Given the description of an element on the screen output the (x, y) to click on. 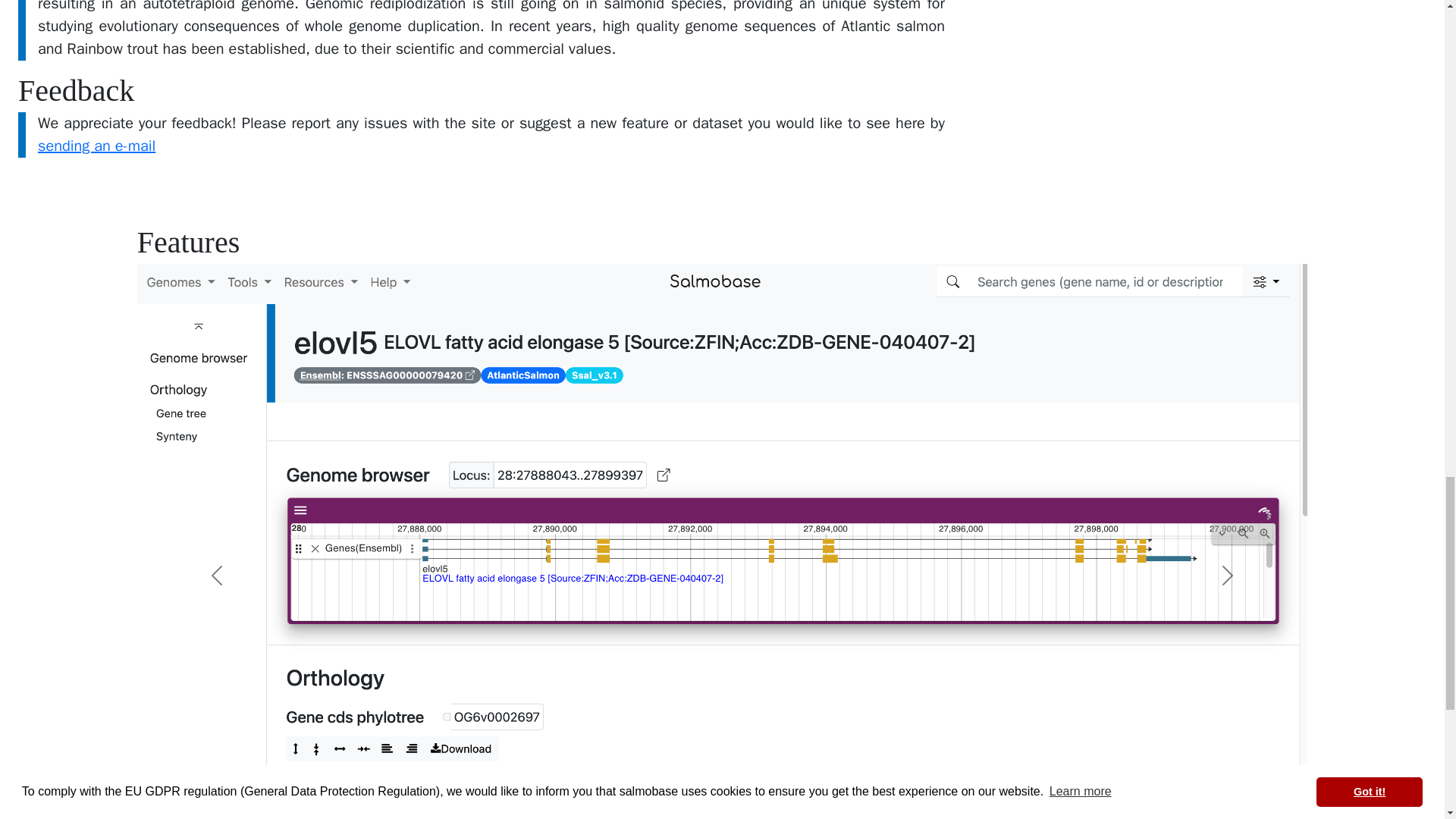
sending an e-mail (96, 145)
